Given the description of an element on the screen output the (x, y) to click on. 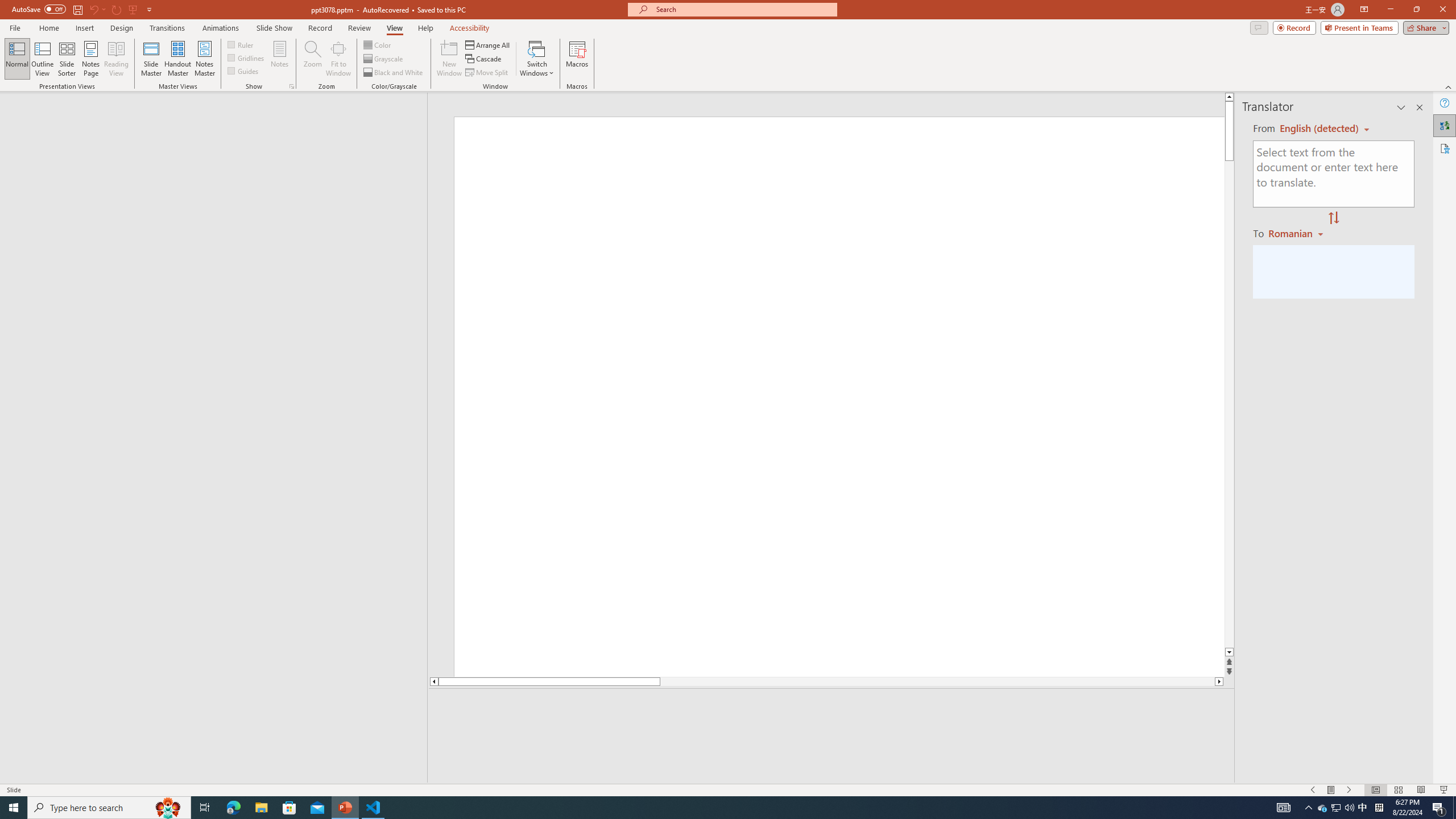
Slide Show Previous On (1313, 790)
Menu On (1331, 790)
Macros (576, 58)
Handout Master (177, 58)
